Given the description of an element on the screen output the (x, y) to click on. 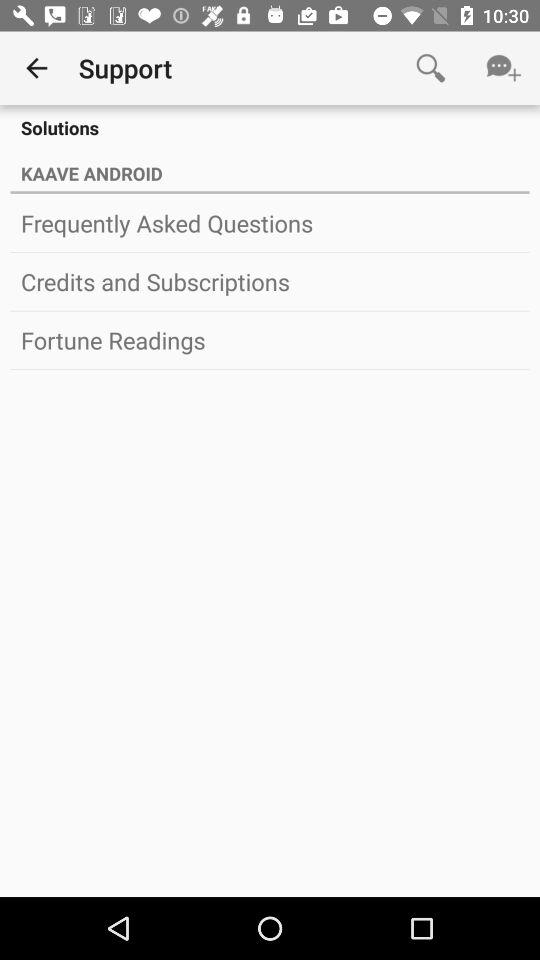
turn off the frequently asked questions item (269, 223)
